Given the description of an element on the screen output the (x, y) to click on. 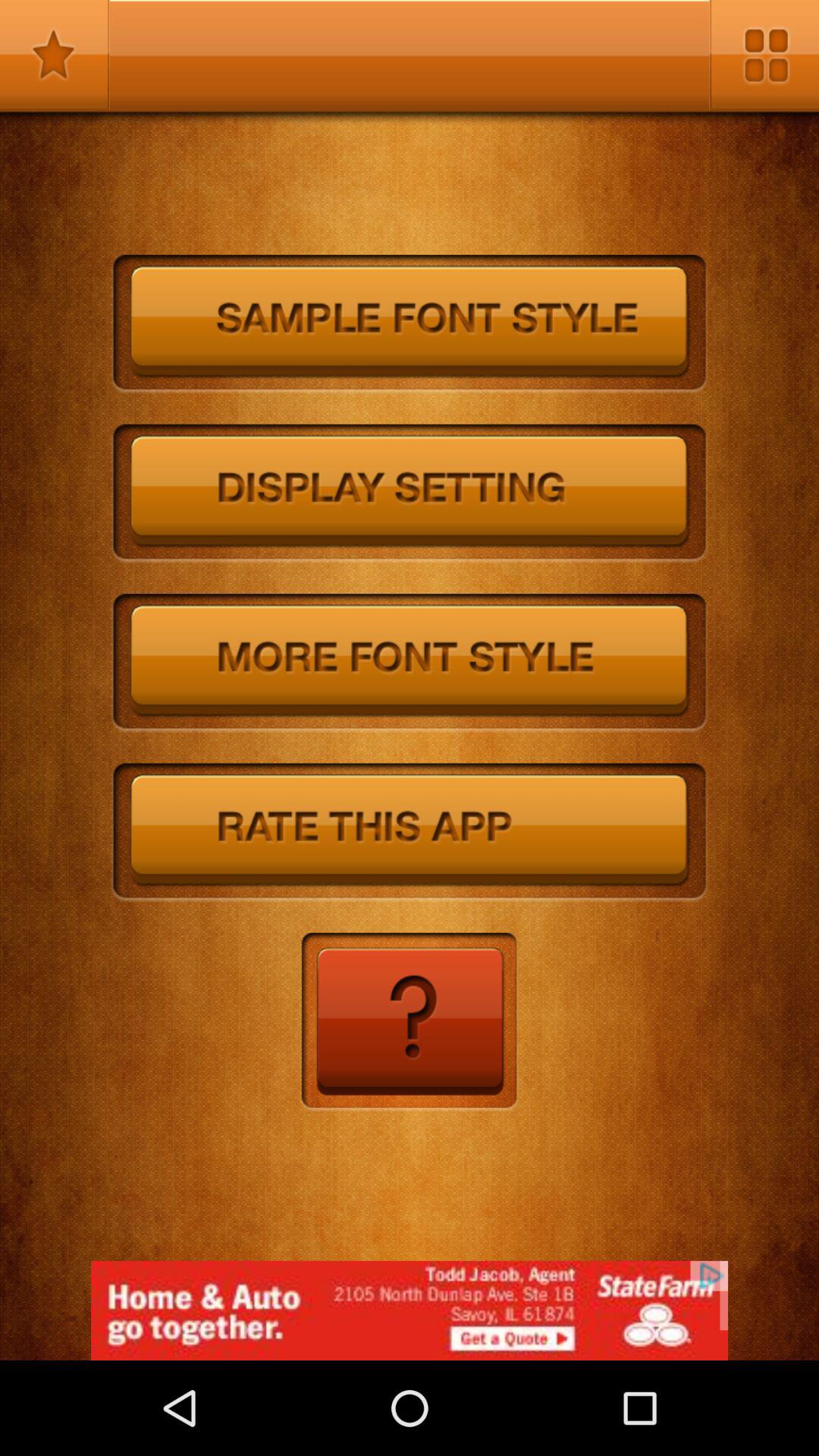
shows the question option (408, 1021)
